Given the description of an element on the screen output the (x, y) to click on. 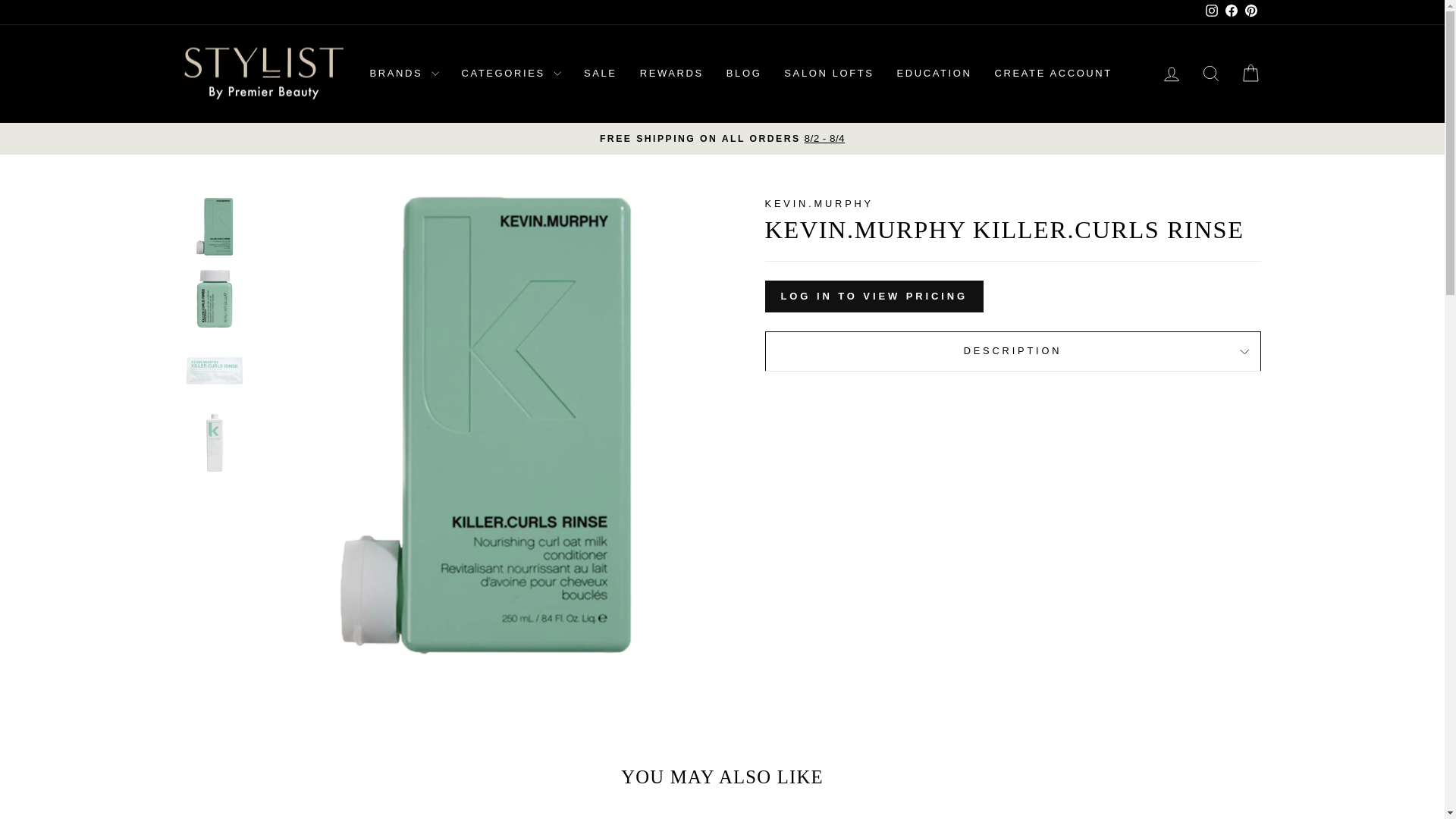
instagram (1211, 10)
ICON-SEARCH (1210, 73)
ACCOUNT (1170, 74)
